Given the description of an element on the screen output the (x, y) to click on. 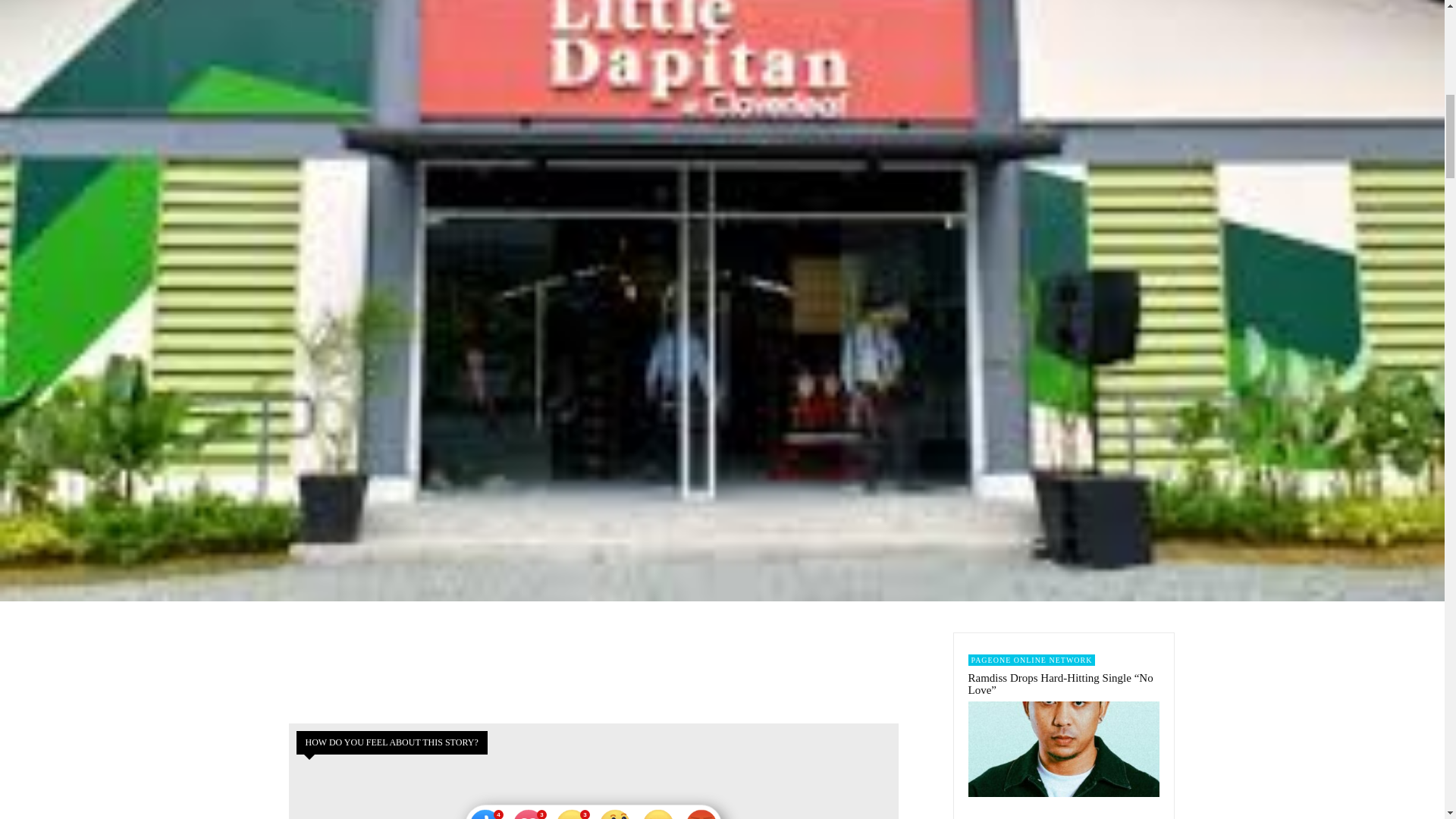
PAGEONE ONLINE NETWORK (1031, 659)
